Given the description of an element on the screen output the (x, y) to click on. 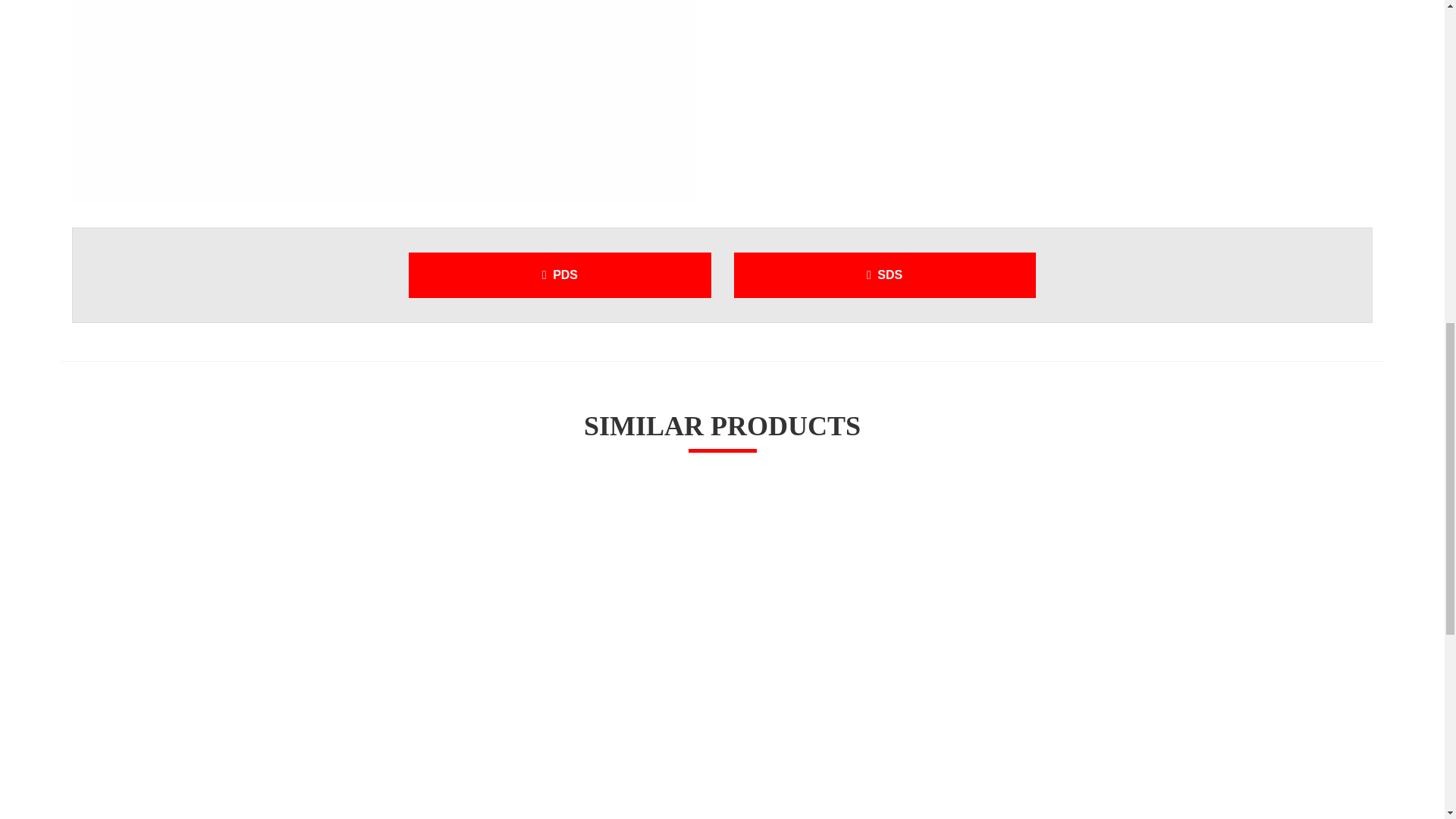
SDS (884, 275)
PDS (559, 275)
